Given the description of an element on the screen output the (x, y) to click on. 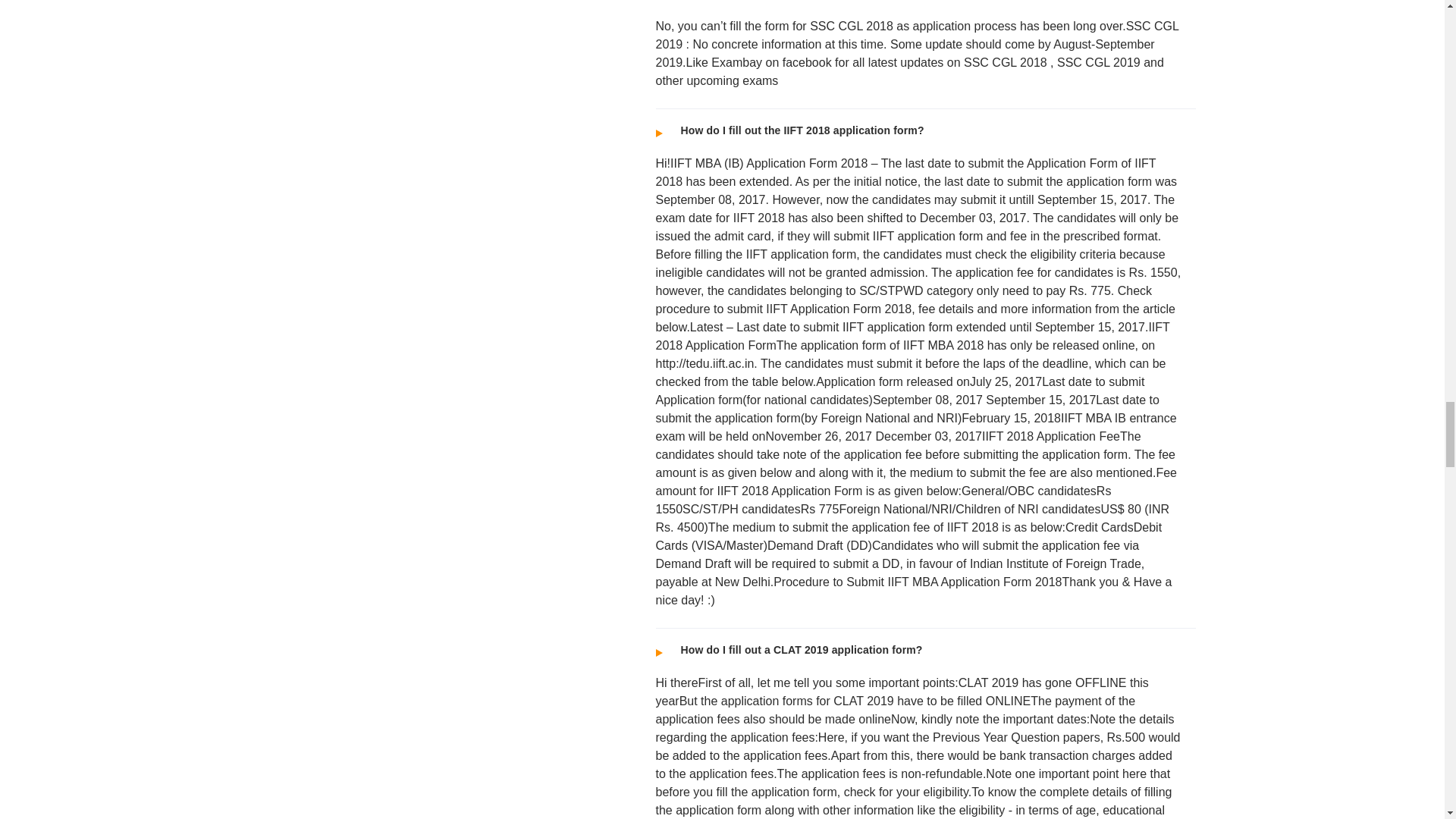
How do I fill out a CLAT 2019 application form? (918, 647)
How do I fill out the IIFT 2018 application form? (918, 128)
